Given the description of an element on the screen output the (x, y) to click on. 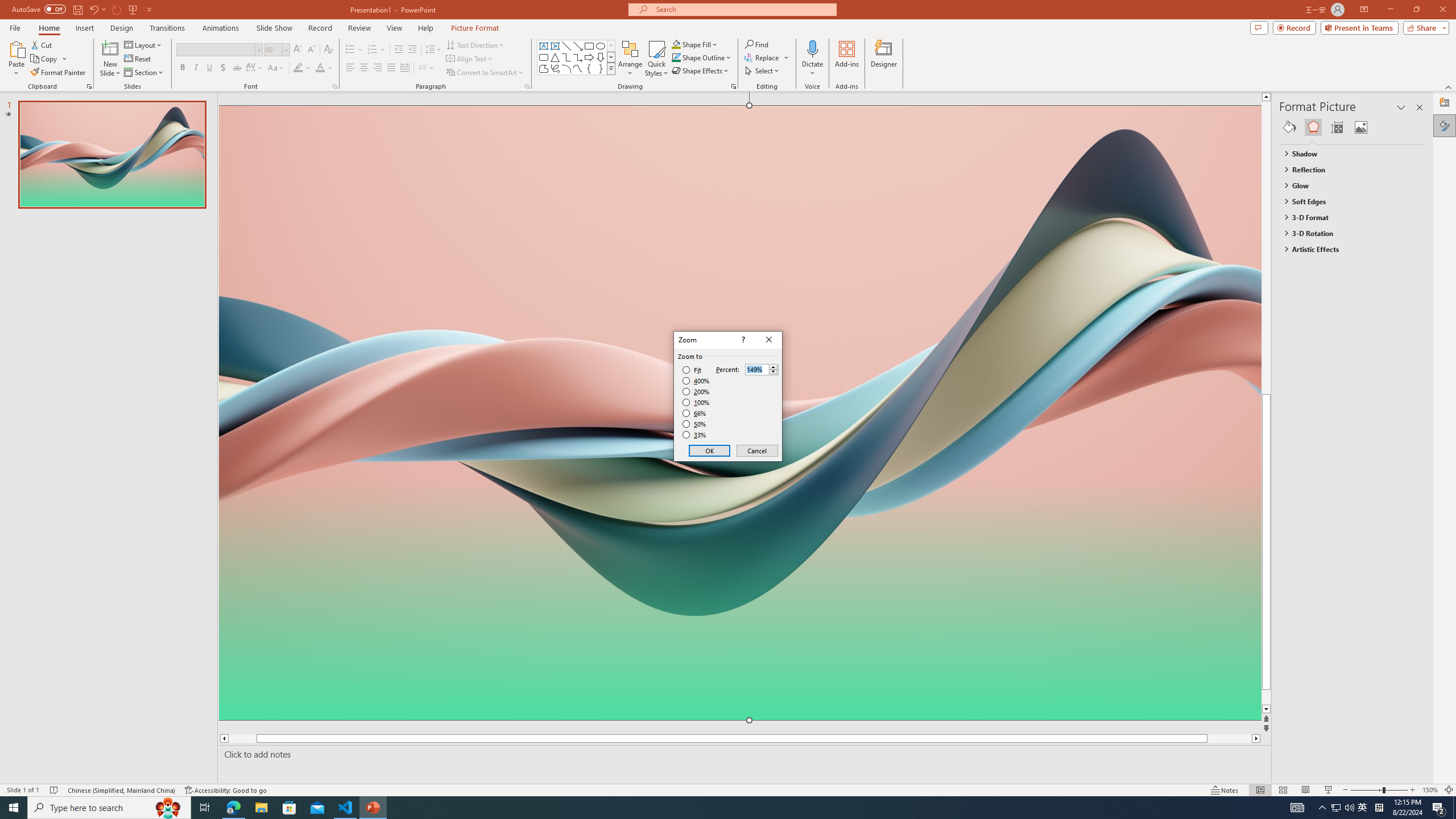
Zoom 150% (1430, 790)
